Given the description of an element on the screen output the (x, y) to click on. 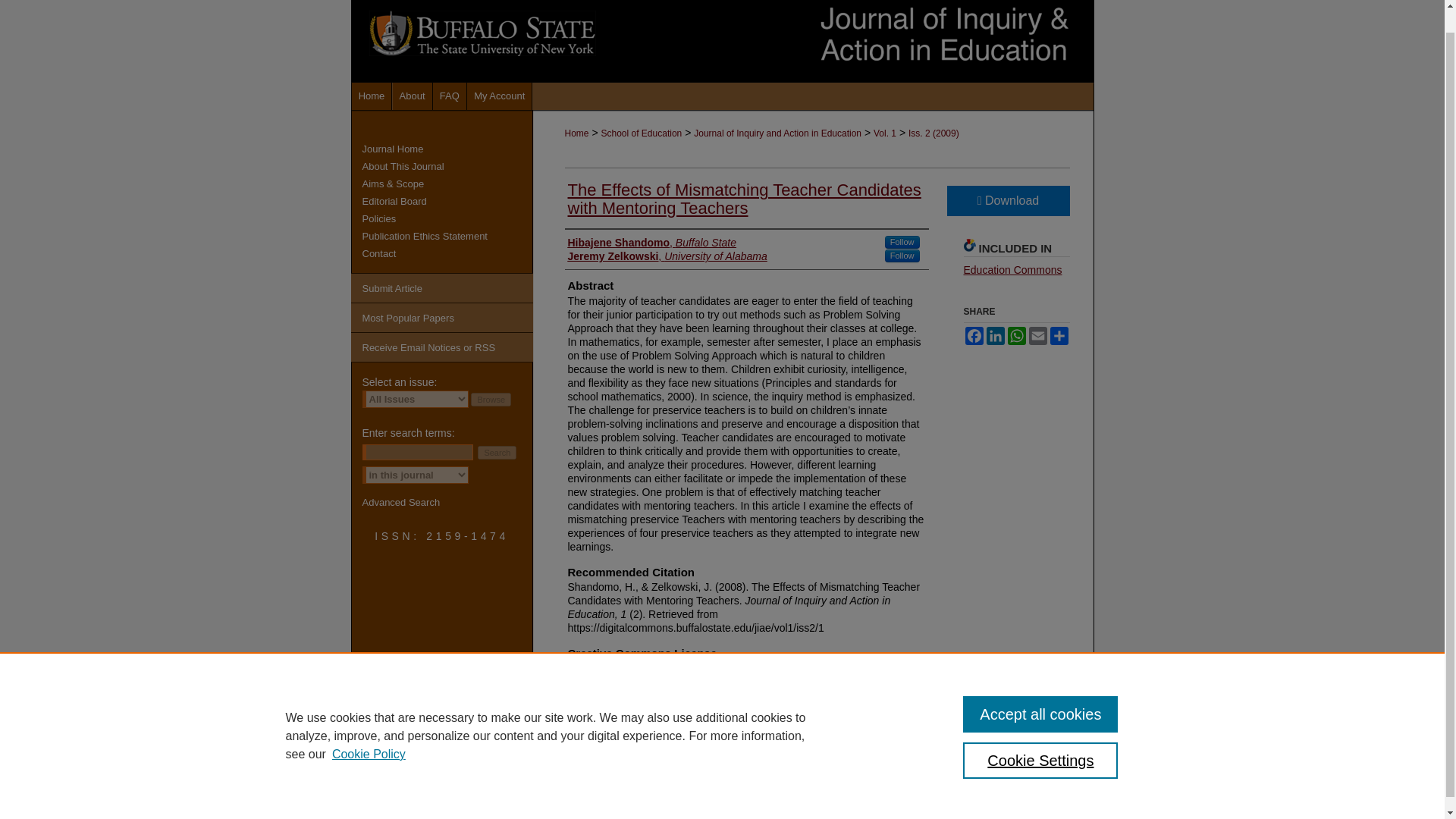
Search (496, 452)
Follow (902, 241)
About (412, 95)
About (412, 95)
Facebook (973, 335)
Download (1007, 200)
Hibajene Shandomo, Buffalo State (651, 242)
Browse (490, 399)
FAQ (449, 95)
School of Education (640, 132)
Search (496, 452)
Jeremy Zelkowski, University of Alabama (667, 255)
Home (371, 95)
Journal Home (447, 148)
